Given the description of an element on the screen output the (x, y) to click on. 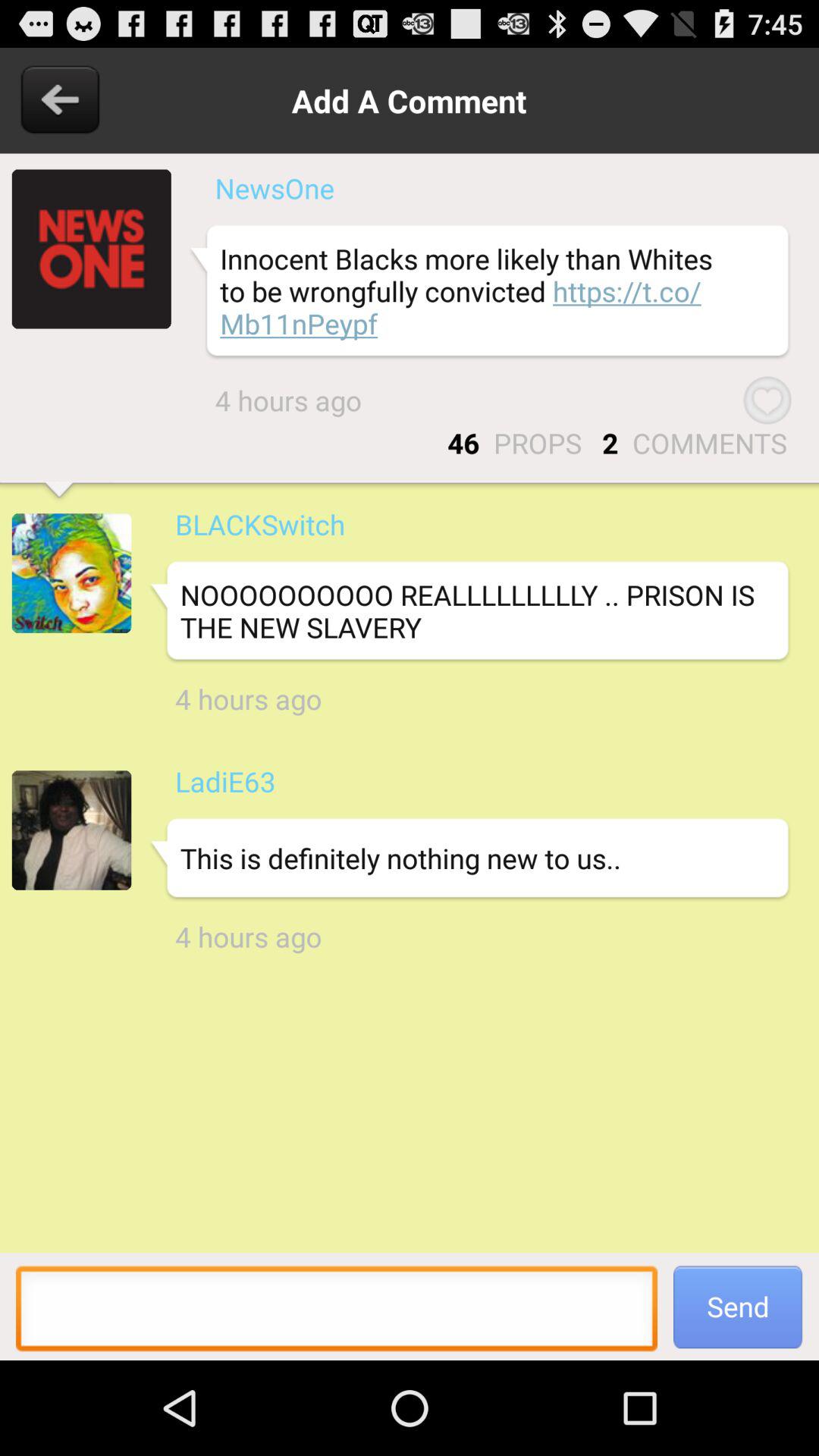
turn on newsone item (274, 188)
